Given the description of an element on the screen output the (x, y) to click on. 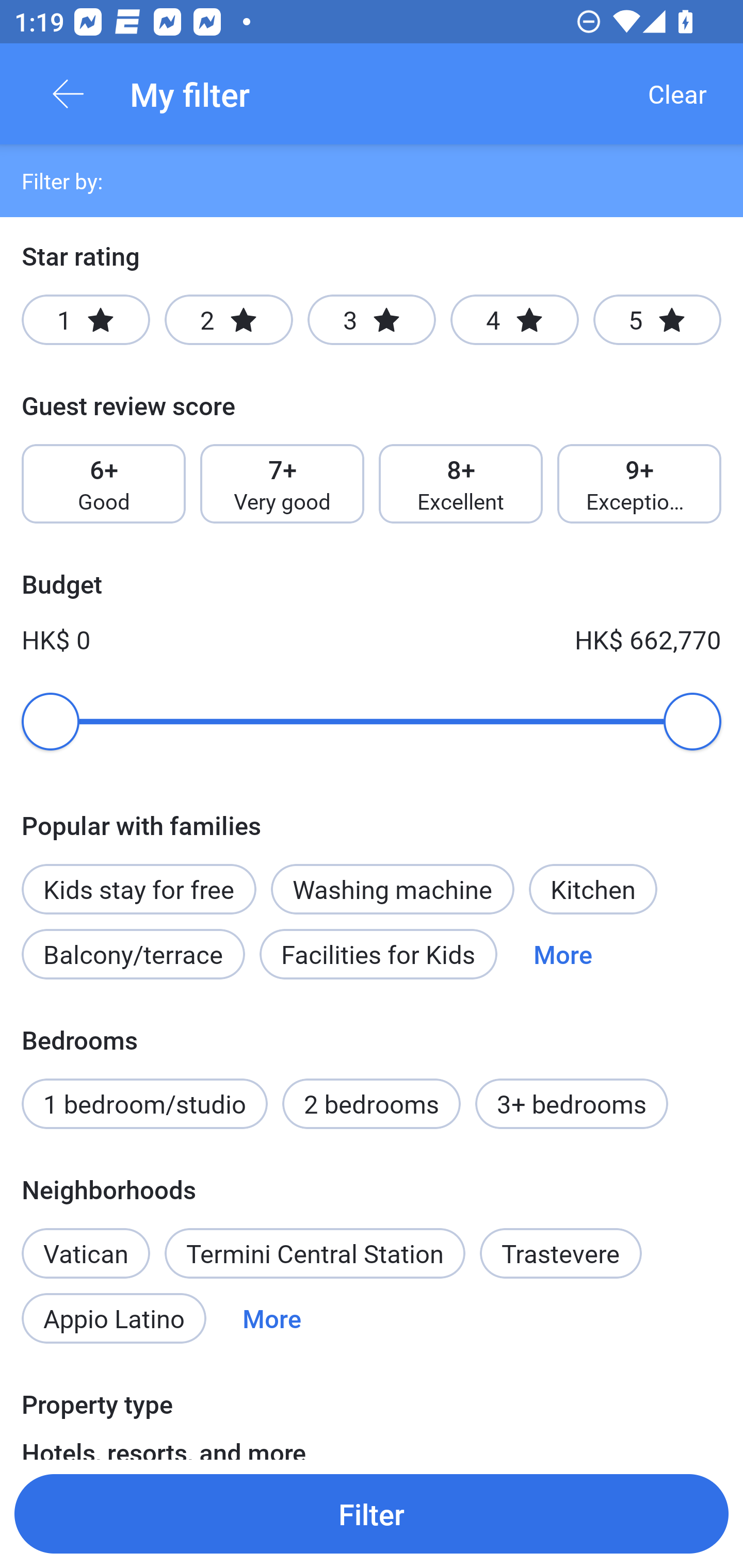
Clear (676, 93)
1 (85, 319)
2 (228, 319)
3 (371, 319)
4 (514, 319)
5 (657, 319)
6+ Good (103, 483)
7+ Very good (281, 483)
8+ Excellent (460, 483)
9+ Exceptional (639, 483)
Kids stay for free (138, 888)
Washing machine (392, 888)
Kitchen (593, 888)
Balcony/terrace (133, 954)
Facilities for Kids (378, 954)
More (562, 954)
1 bedroom/studio (144, 1103)
2 bedrooms (371, 1103)
3+ bedrooms (571, 1103)
Vatican (85, 1242)
Termini Central Station (314, 1253)
Trastevere (560, 1253)
Appio Latino (113, 1317)
More (271, 1317)
Filter (371, 1513)
